Given the description of an element on the screen output the (x, y) to click on. 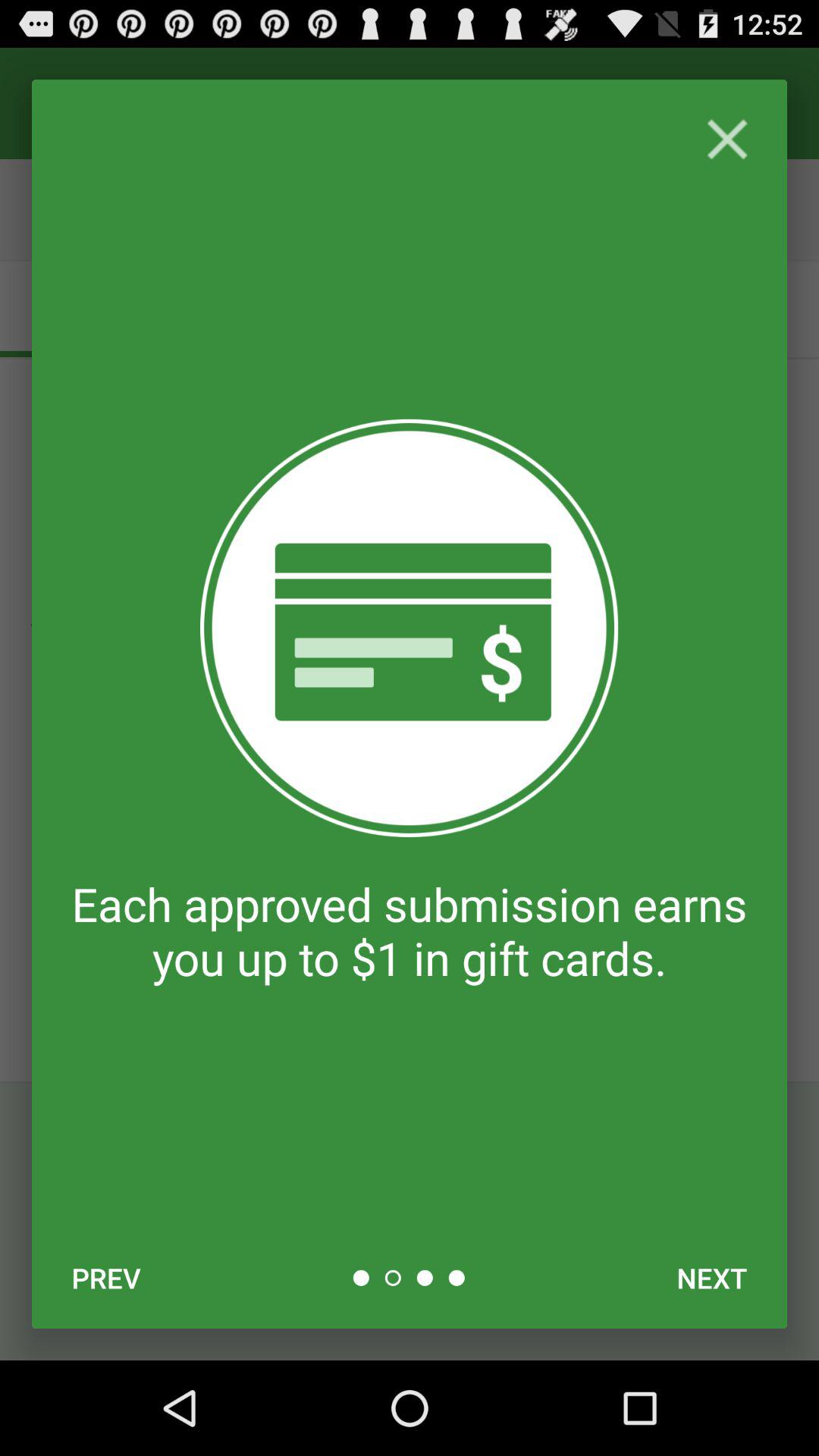
turn off the item at the bottom left corner (105, 1277)
